Given the description of an element on the screen output the (x, y) to click on. 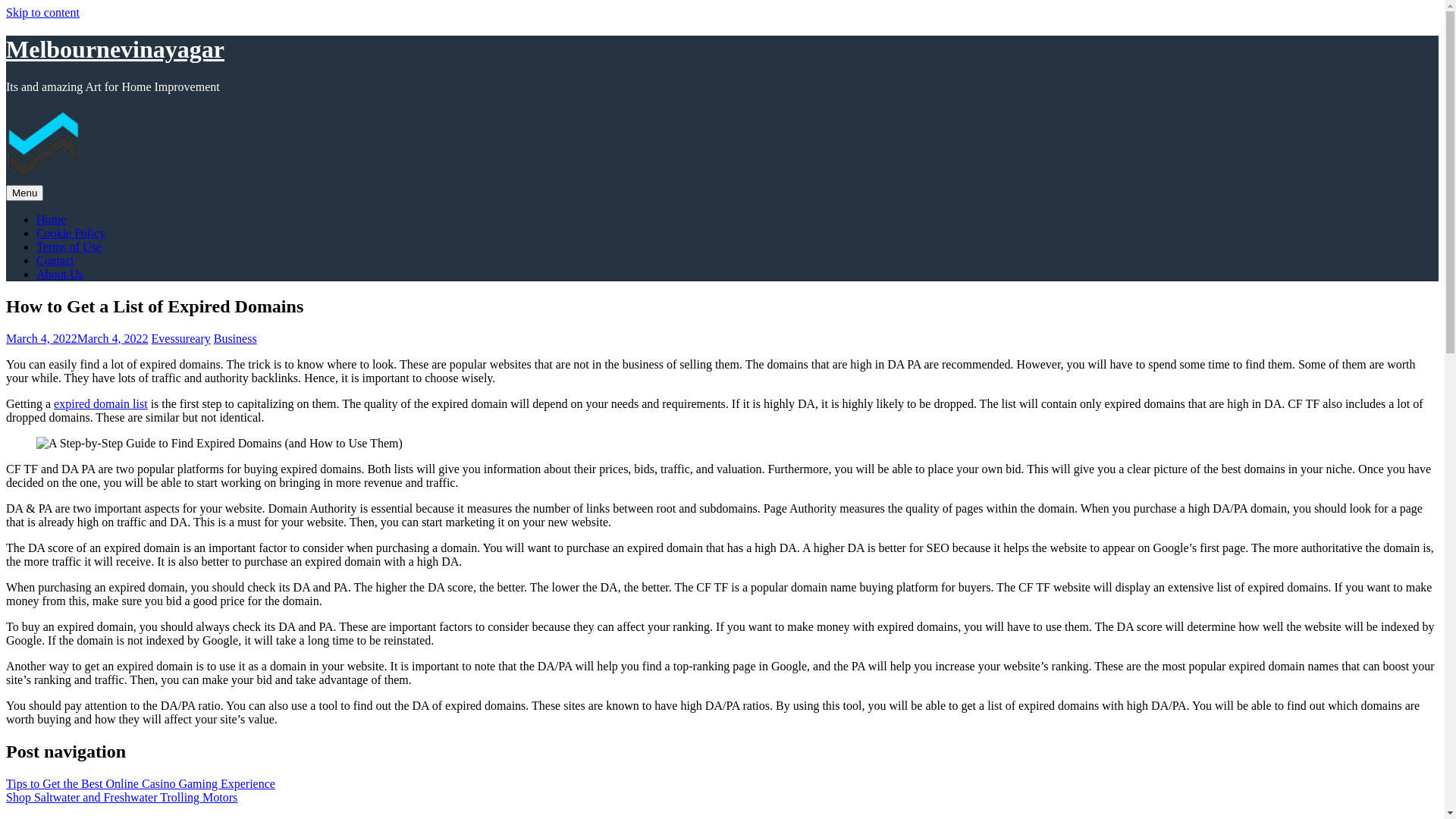
About Us Element type: text (59, 273)
Melbournevinayagar Element type: text (115, 48)
Contact Element type: text (55, 260)
Terms of Use Element type: text (68, 246)
March 4, 2022March 4, 2022 Element type: text (77, 338)
Skip to content Element type: text (42, 12)
Shop Saltwater and Freshwater Trolling Motors Element type: text (121, 796)
Evessureary Element type: text (180, 338)
Home Element type: text (50, 219)
expired domain list Element type: text (100, 403)
Cookie Policy Element type: text (70, 232)
Tips to Get the Best Online Casino Gaming Experience Element type: text (140, 782)
Business Element type: text (235, 338)
Menu Element type: text (24, 192)
